Given the description of an element on the screen output the (x, y) to click on. 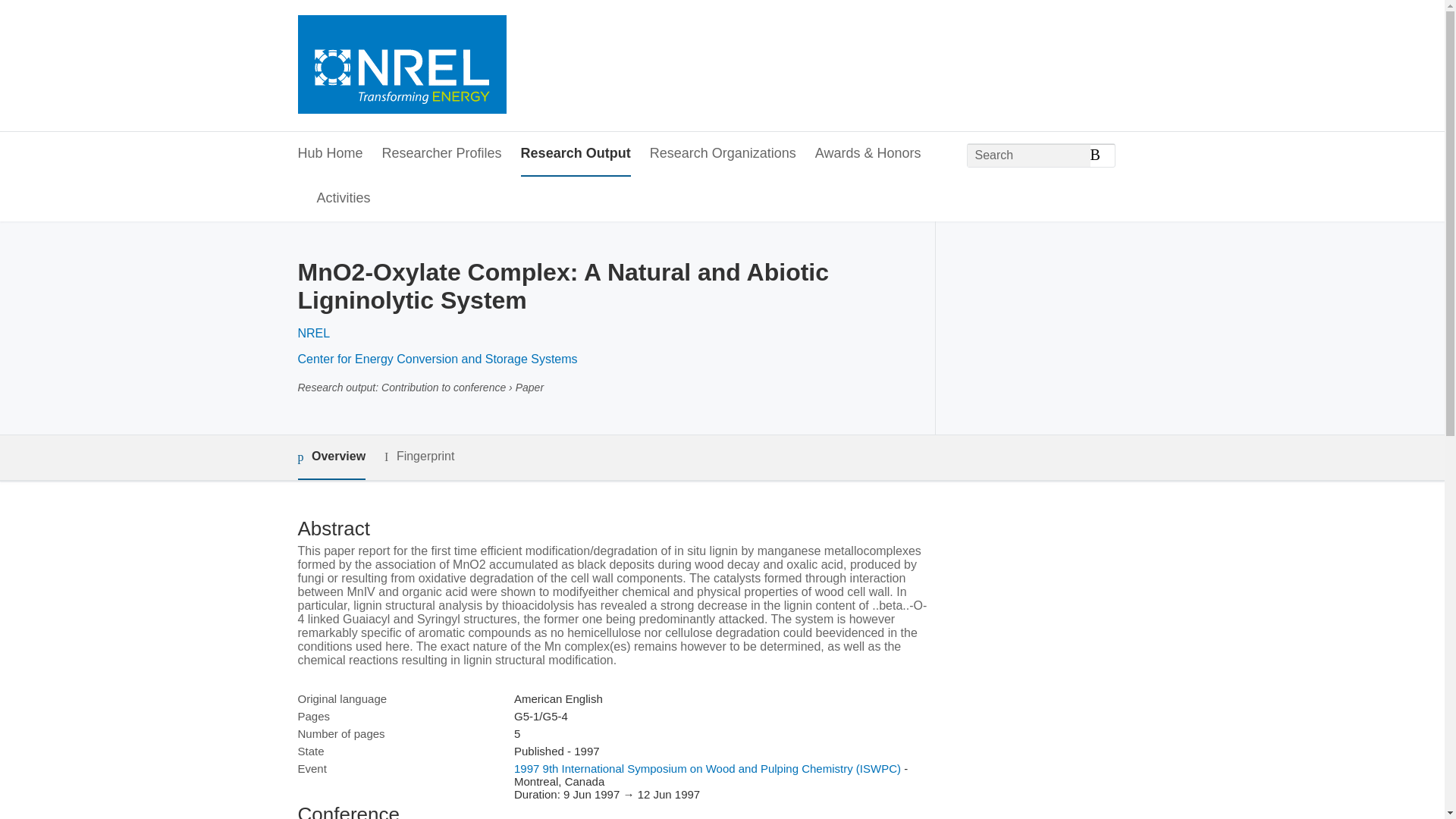
Center for Energy Conversion and Storage Systems (436, 358)
NREL (313, 332)
Researcher Profiles (441, 153)
Research Output (575, 153)
Hub Home (329, 153)
Overview (331, 456)
Activities (344, 198)
Fingerprint (419, 456)
National Renewable Energy Laboratory Hub Home (401, 66)
